Given the description of an element on the screen output the (x, y) to click on. 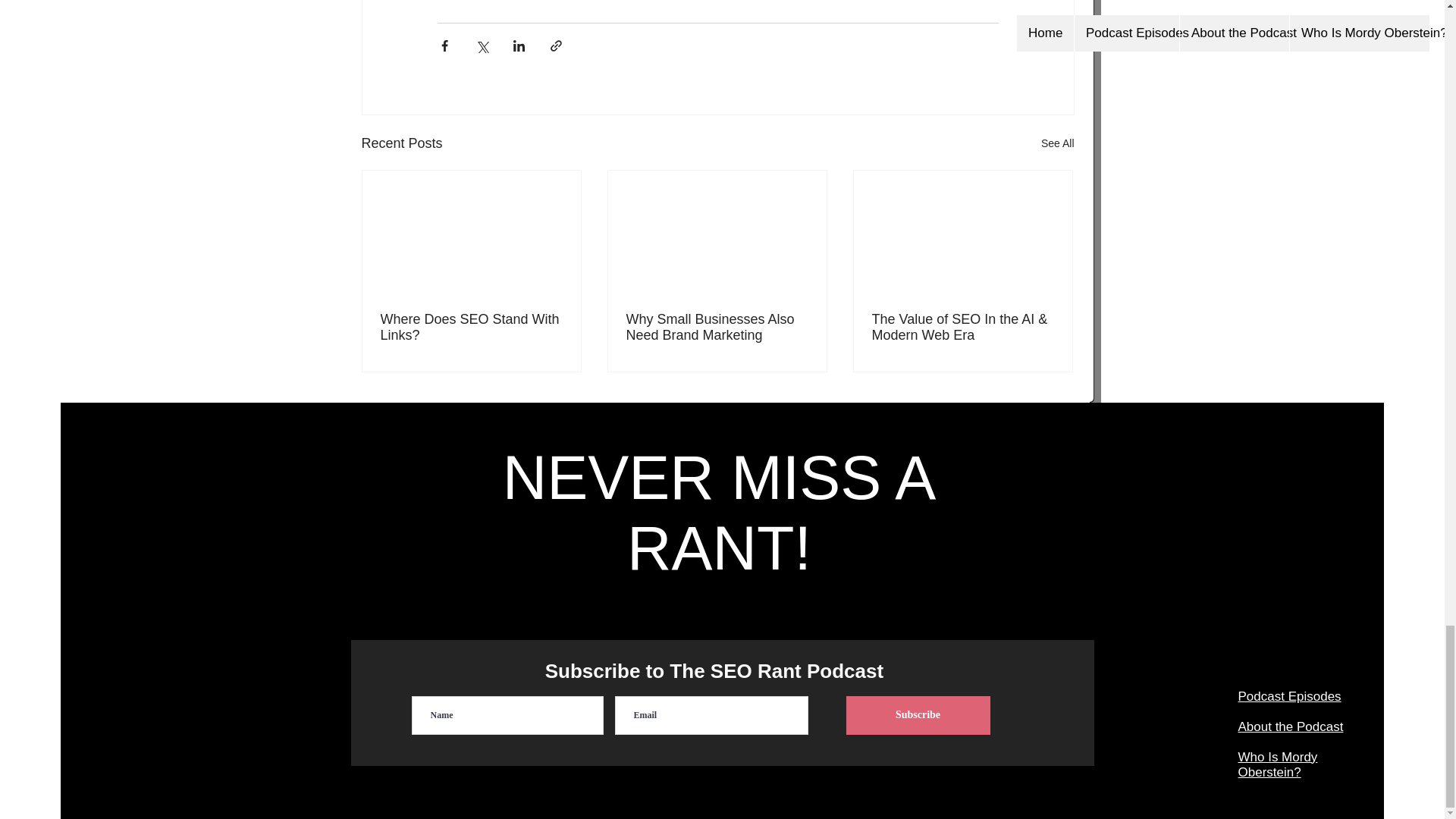
Subscribe (917, 715)
See All (1057, 143)
Why Small Businesses Also Need Brand Marketing (717, 327)
Where Does SEO Stand With Links? (471, 327)
About the Podcast (1289, 726)
Podcast Episodes (1288, 696)
Who Is Mordy Oberstein? (1277, 764)
